Given the description of an element on the screen output the (x, y) to click on. 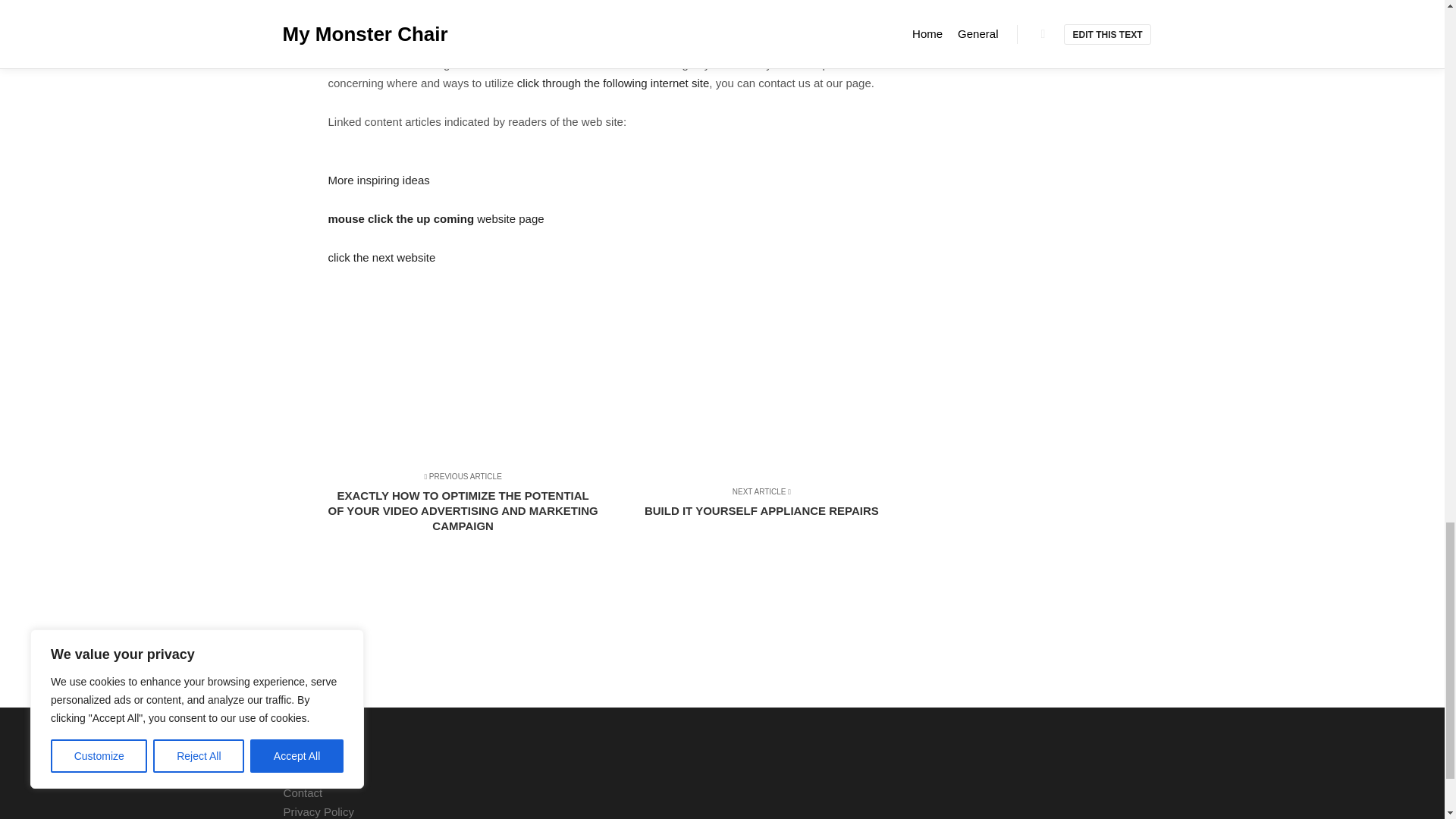
mouse click the up coming website page (435, 218)
click through the following internet site (612, 82)
More inspiring ideas (378, 179)
click the next website (754, 548)
